Given the description of an element on the screen output the (x, y) to click on. 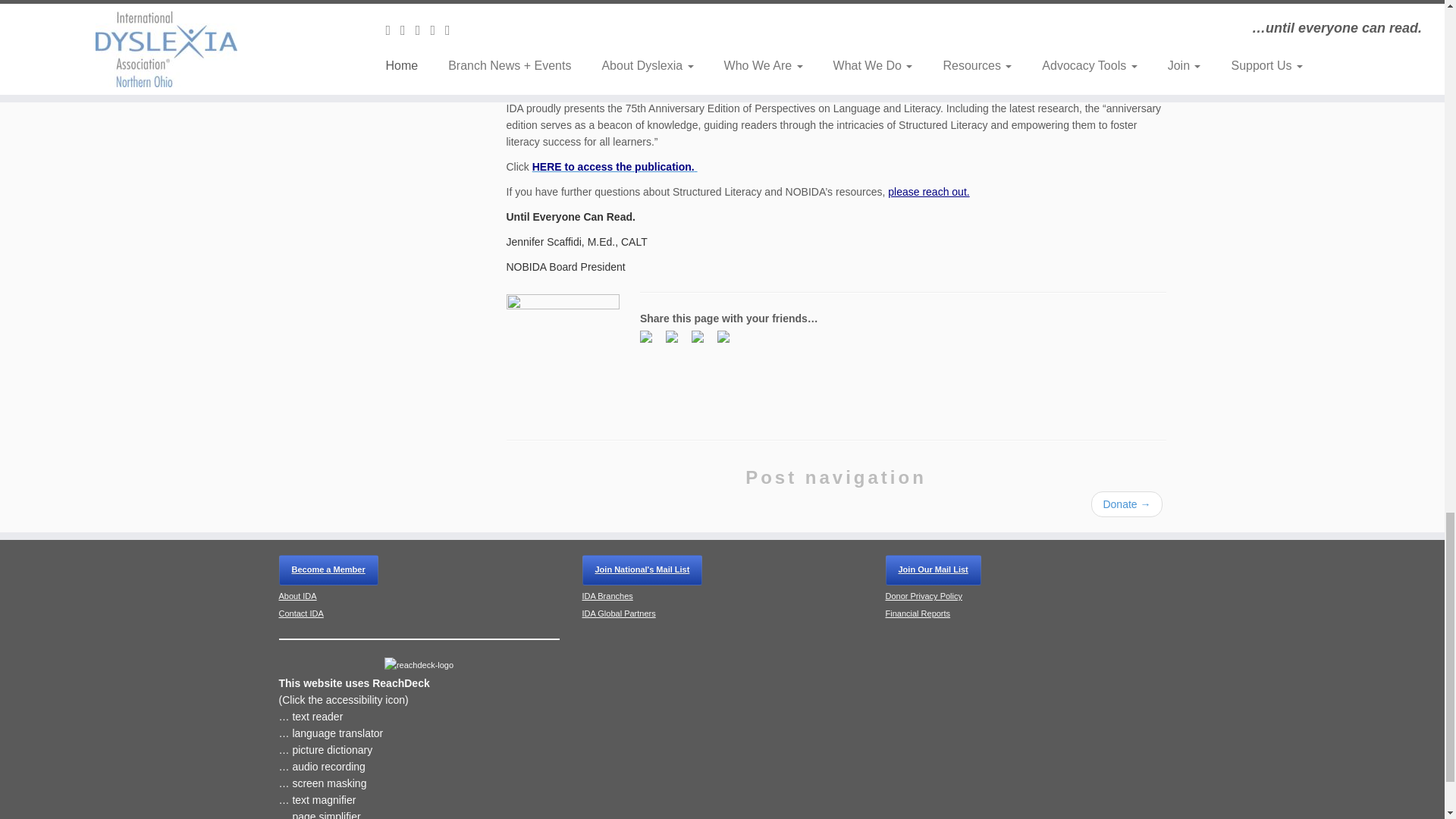
Share on Facebook (649, 339)
